Given the description of an element on the screen output the (x, y) to click on. 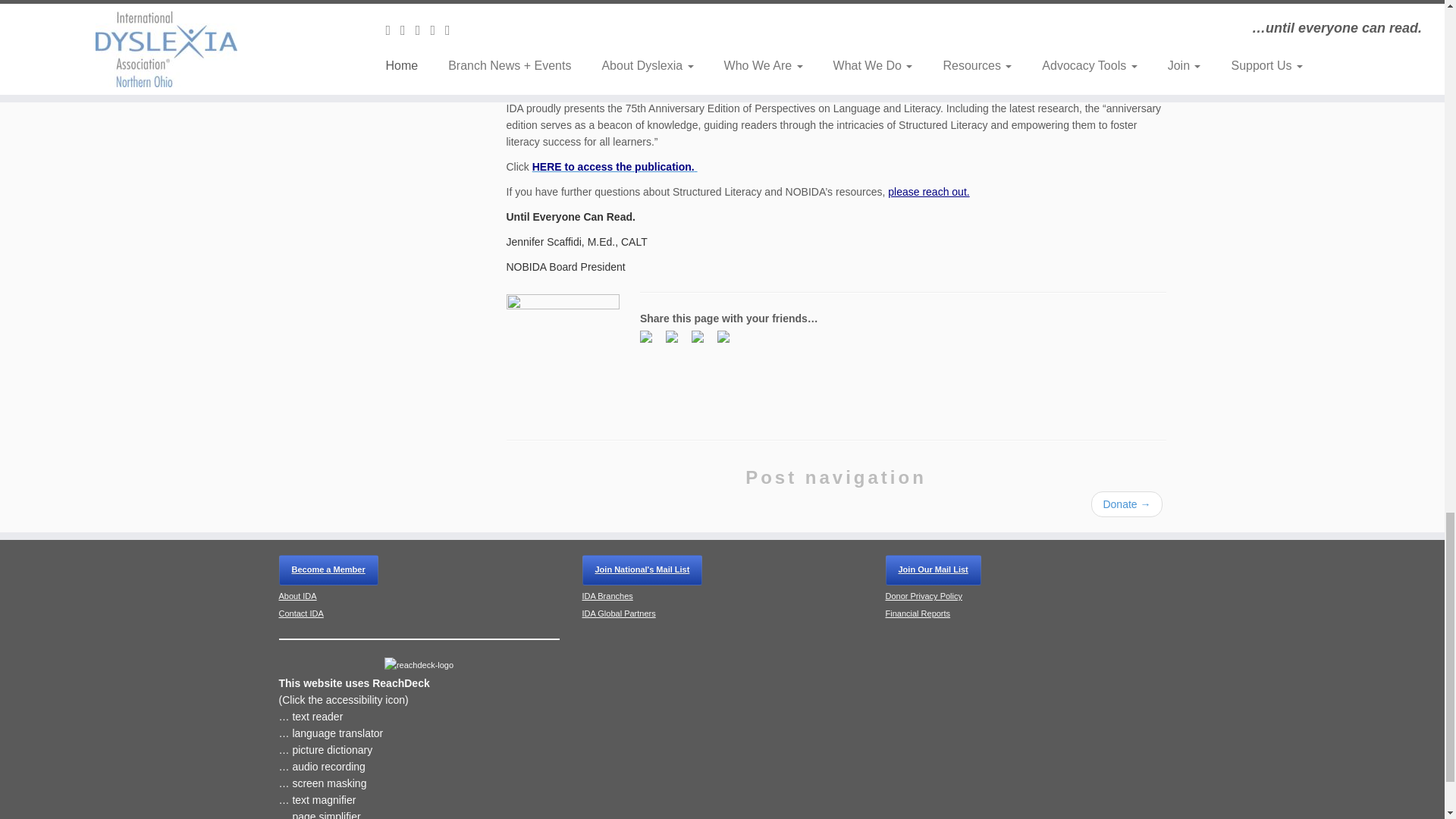
Share on Facebook (649, 339)
